Given the description of an element on the screen output the (x, y) to click on. 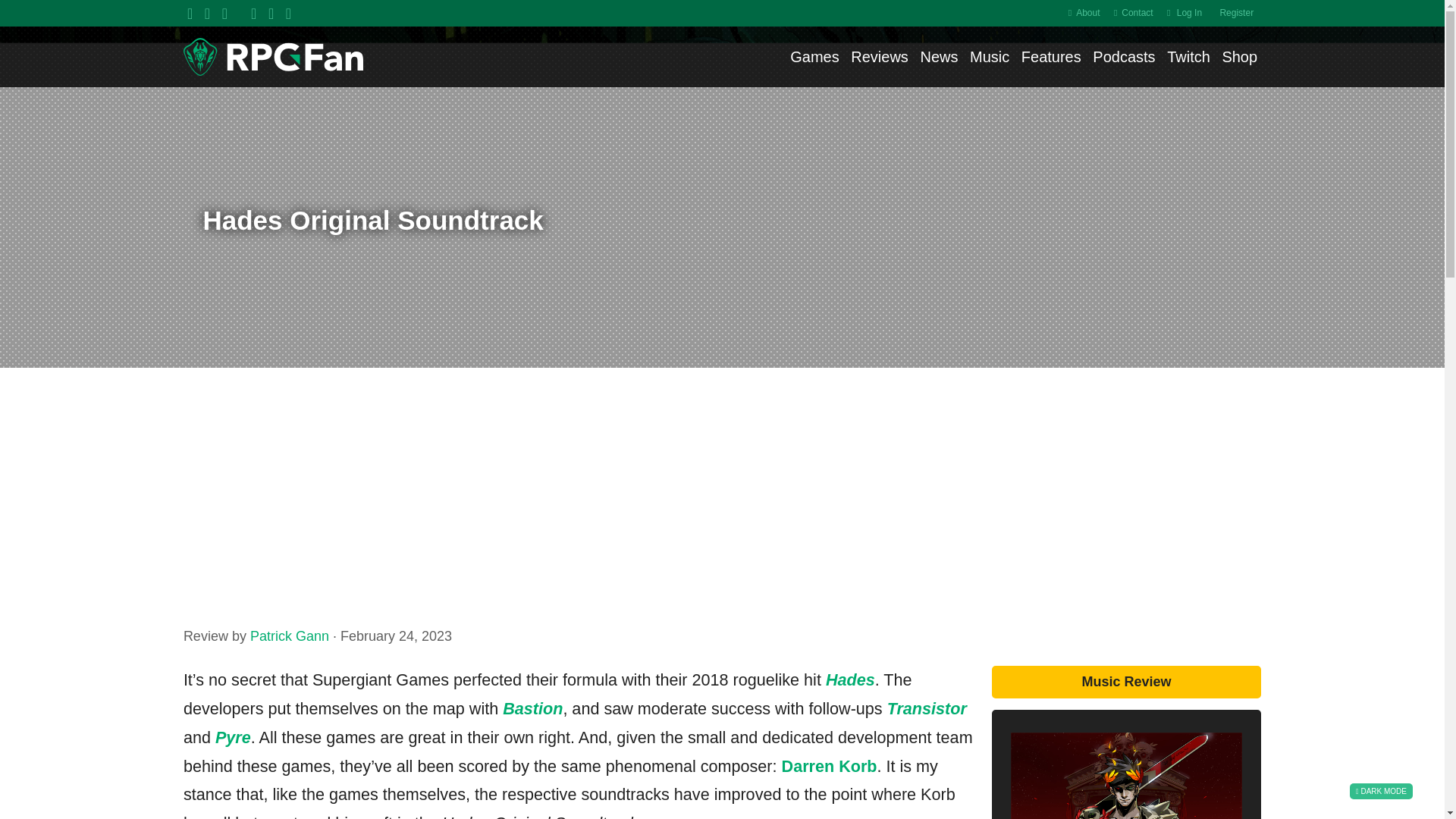
Darren Korb (829, 765)
About (1087, 13)
Contact (1137, 13)
Register (1236, 13)
Music (989, 58)
News (939, 58)
Pyre (232, 737)
Shop (1239, 58)
Features (1051, 58)
Log In (1189, 13)
